Given the description of an element on the screen output the (x, y) to click on. 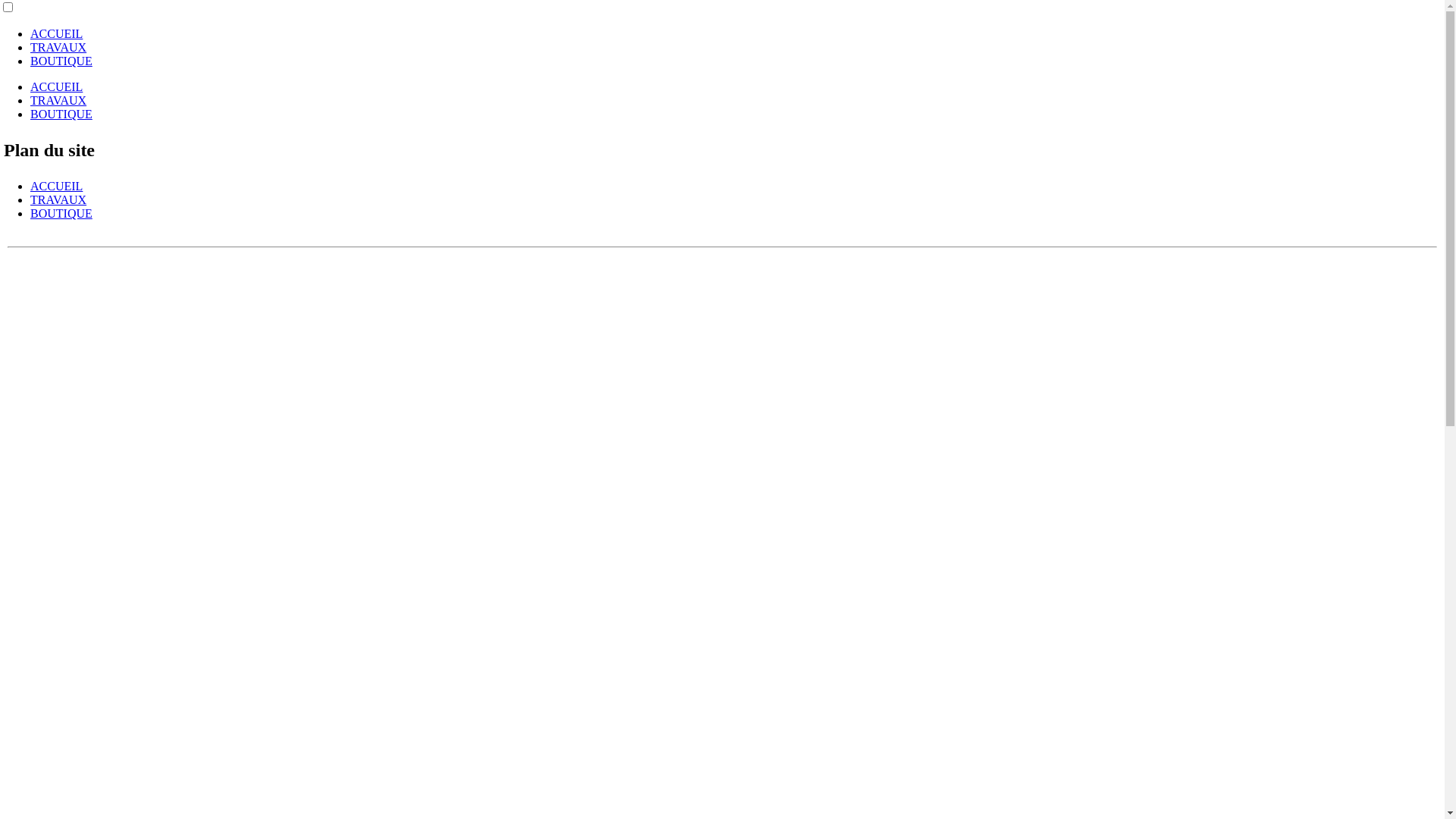
TRAVAUX Element type: text (58, 100)
BOUTIQUE Element type: text (61, 60)
ACCUEIL Element type: text (56, 86)
TRAVAUX Element type: text (58, 199)
BOUTIQUE Element type: text (61, 213)
TRAVAUX Element type: text (58, 46)
ACCUEIL Element type: text (56, 185)
BOUTIQUE Element type: text (61, 113)
ACCUEIL Element type: text (56, 33)
